Given the description of an element on the screen output the (x, y) to click on. 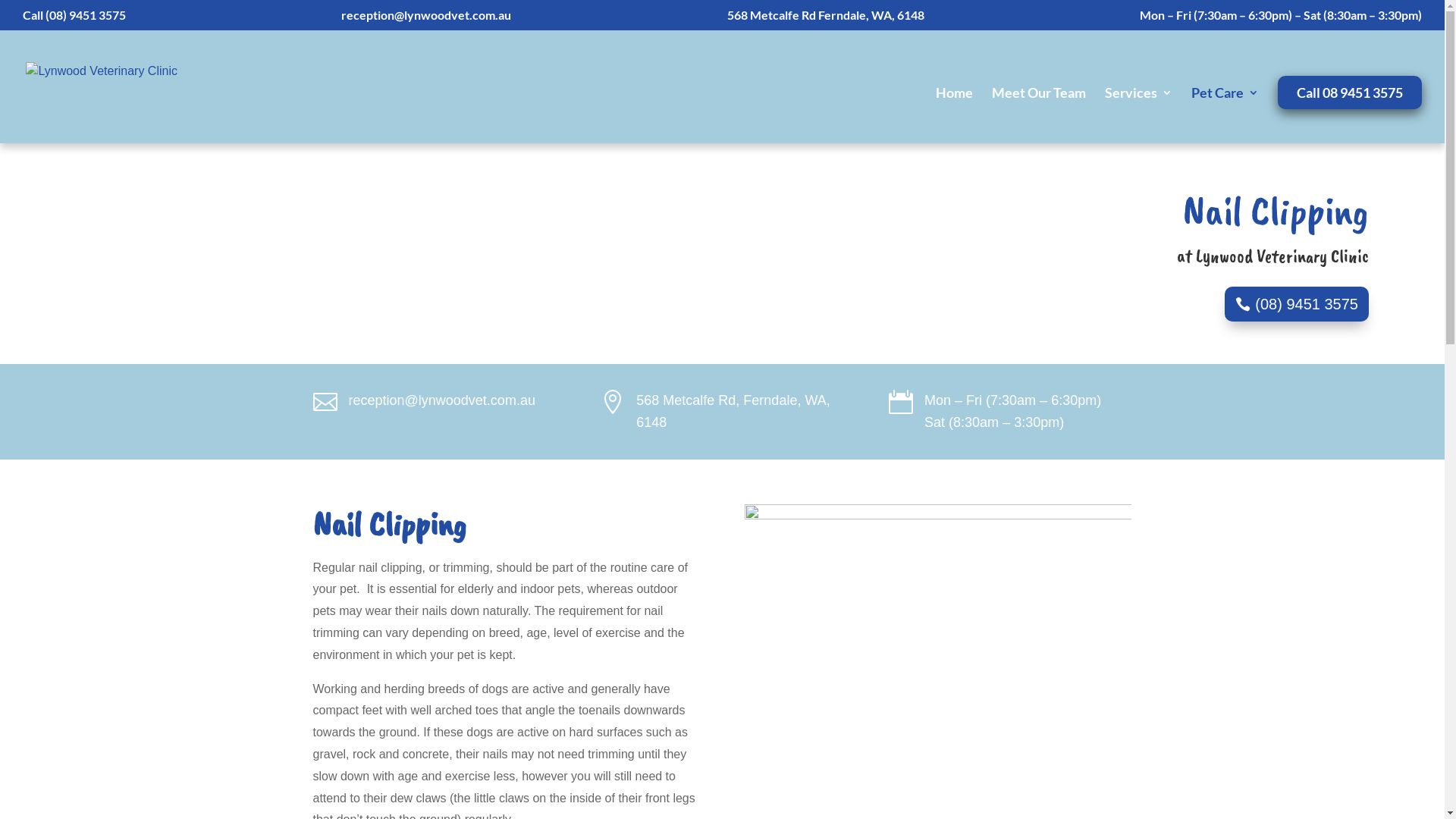
reception@lynwoodvet.com.au Element type: text (426, 19)
Meet Our Team Element type: text (1038, 115)
Services Element type: text (1138, 115)
Call (08) 9451 3575 Element type: text (73, 19)
568 Metcalfe Rd Ferndale, WA, 6148 Element type: text (825, 19)
Home Element type: text (953, 115)
(08) 9451 3575 Element type: text (1296, 303)
Pet Care Element type: text (1224, 115)
Call 08 9451 3575 Element type: text (1349, 92)
